Given the description of an element on the screen output the (x, y) to click on. 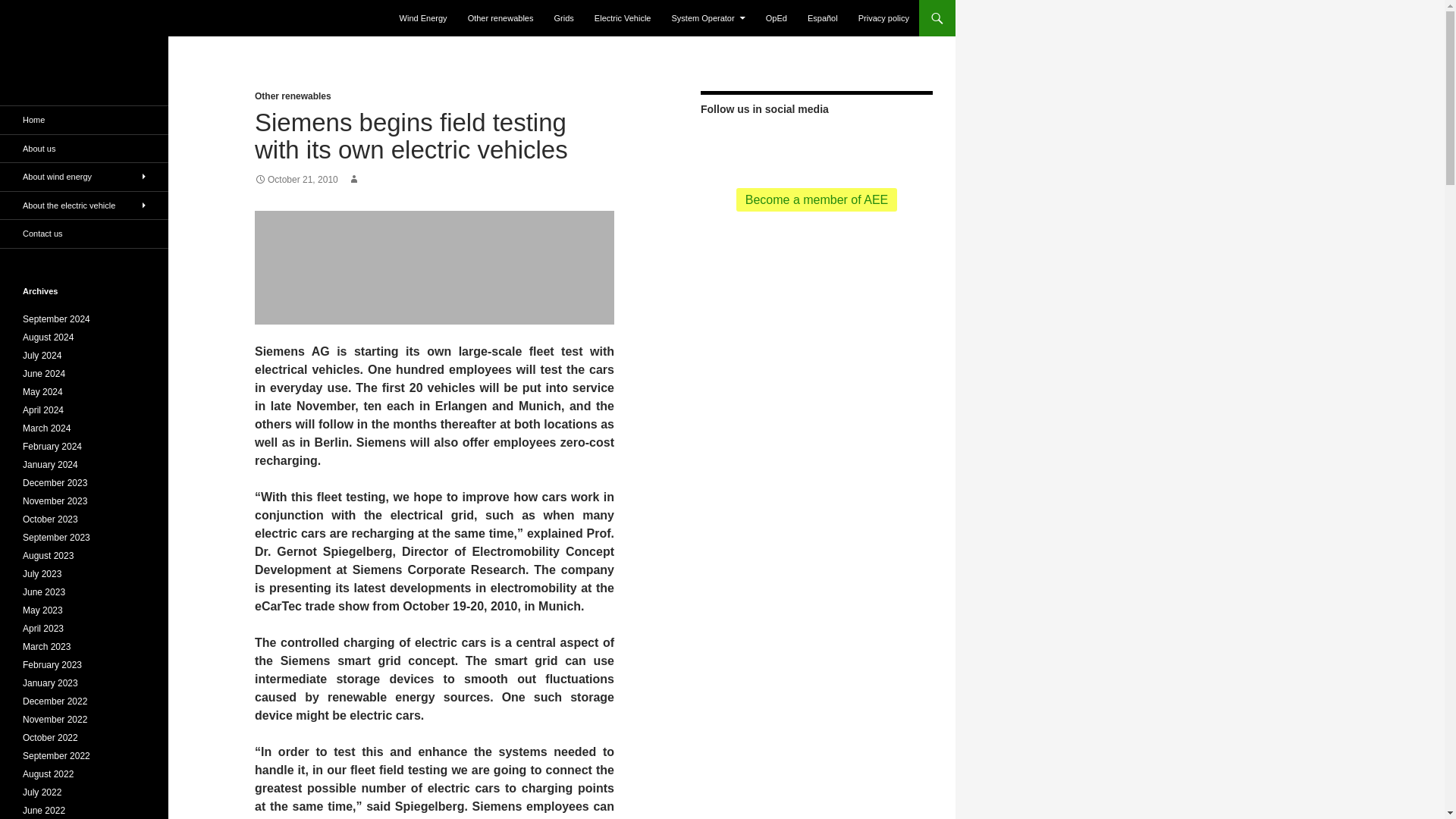
flickr (816, 143)
youtube (792, 143)
OpEd (776, 18)
twitter (743, 143)
LinkedIn (865, 143)
Privacy policy (883, 18)
RSS (719, 143)
Tiktok (840, 143)
October 21, 2010 (295, 179)
System Operator (708, 18)
